Given the description of an element on the screen output the (x, y) to click on. 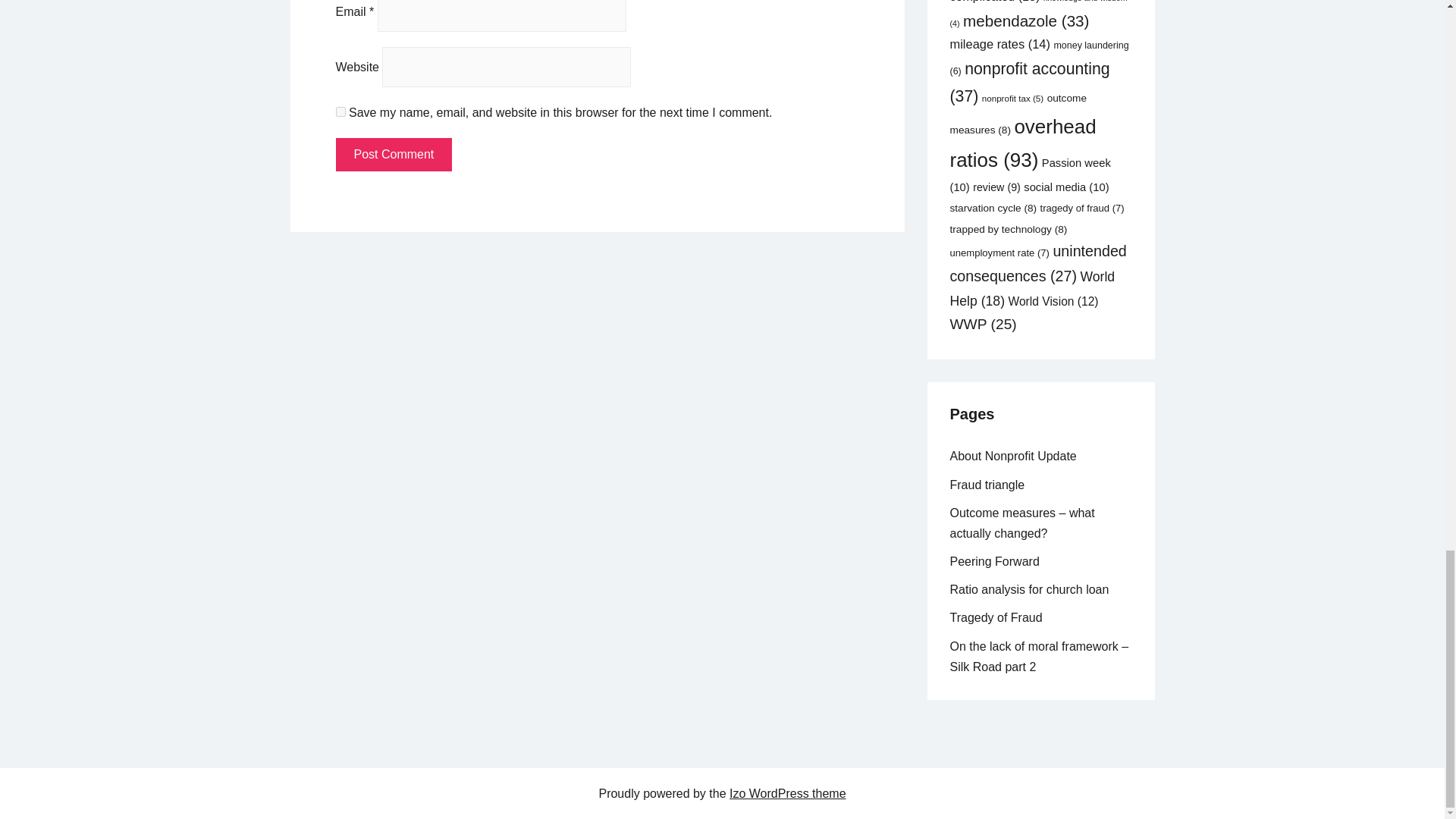
Post Comment (392, 154)
Post Comment (392, 154)
yes (339, 112)
